Given the description of an element on the screen output the (x, y) to click on. 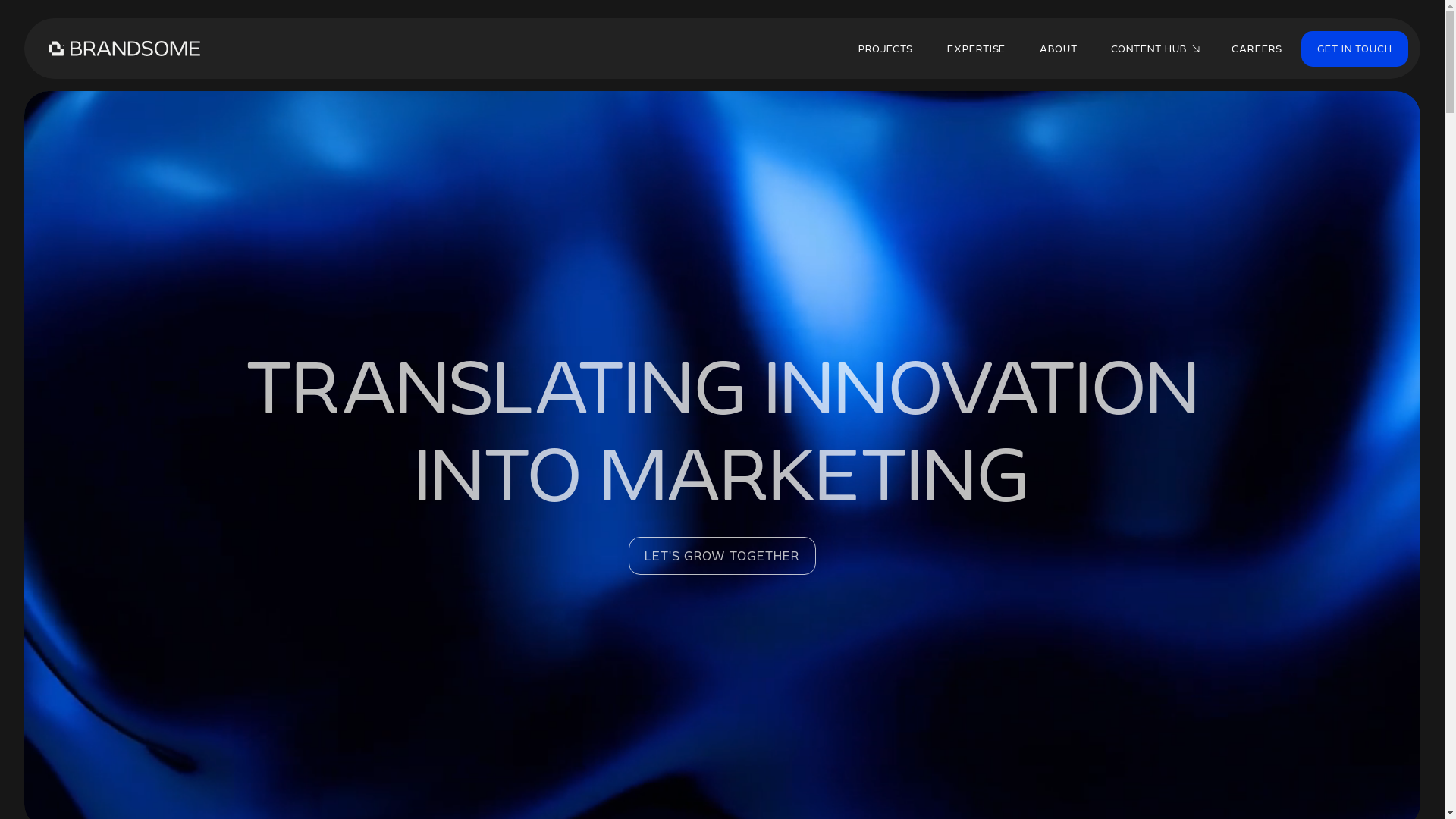
LET'S GROW TOGETHER Element type: text (721, 555)
ABOUT Element type: text (1058, 48)
GET IN TOUCH Element type: text (1354, 47)
CAREERS Element type: text (1256, 48)
PROJECTS Element type: text (885, 48)
EXPERTISE Element type: text (975, 48)
